Given the description of an element on the screen output the (x, y) to click on. 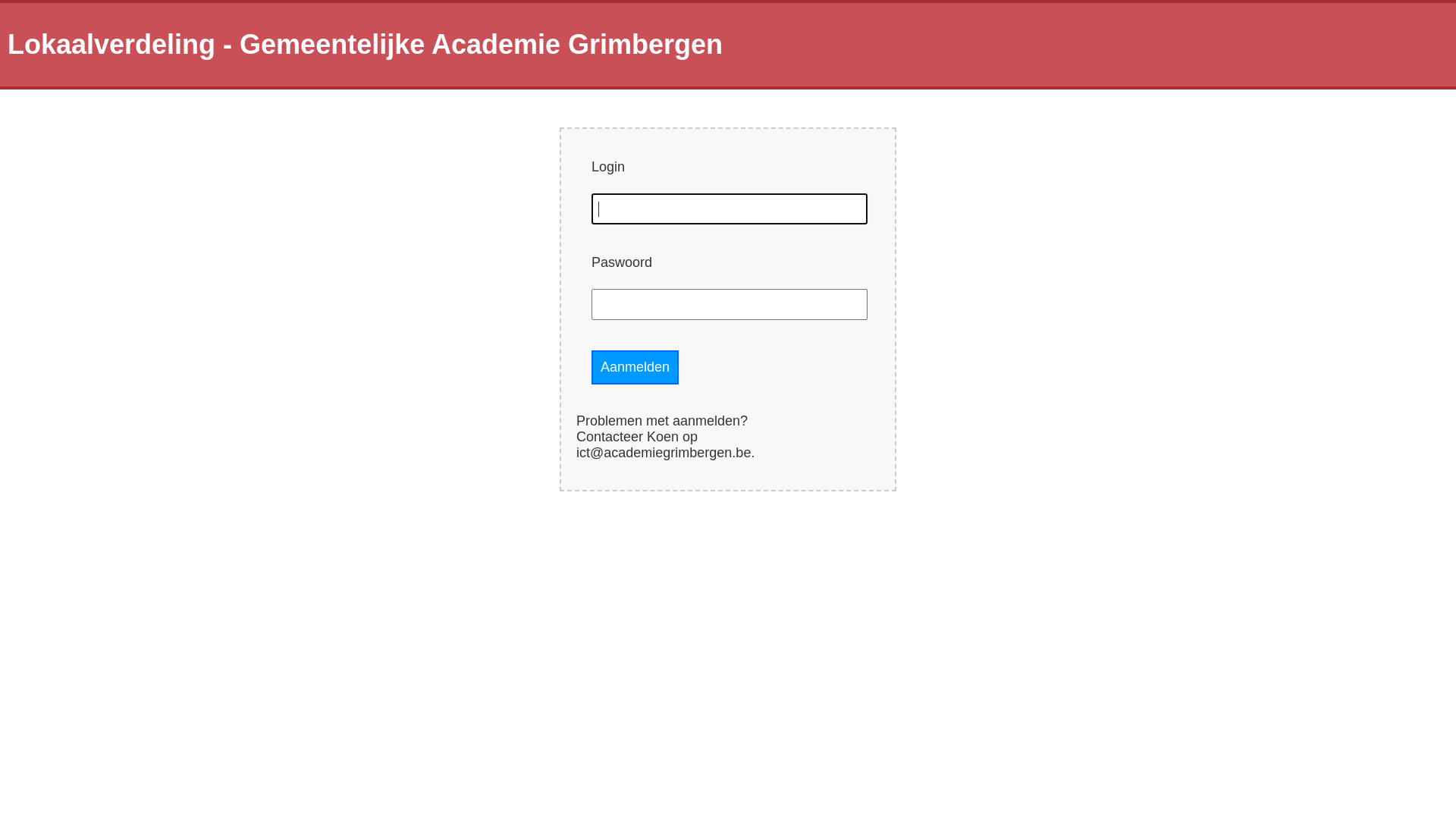
Aanmelden Element type: text (634, 367)
